Given the description of an element on the screen output the (x, y) to click on. 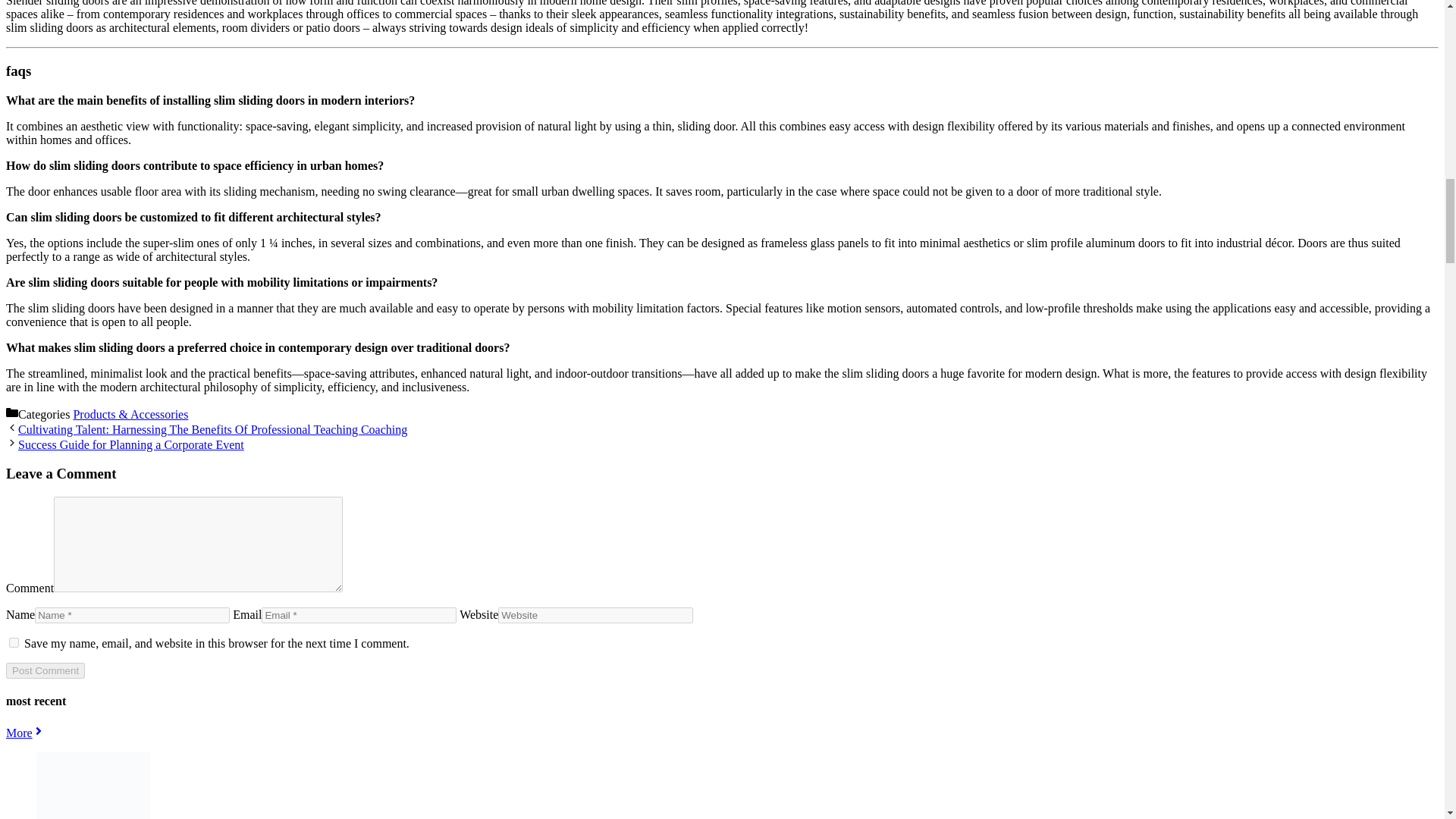
yes (13, 642)
More (25, 732)
Success Guide for Planning a Corporate Event (130, 444)
Post Comment (44, 670)
Post Comment (44, 670)
